Given the description of an element on the screen output the (x, y) to click on. 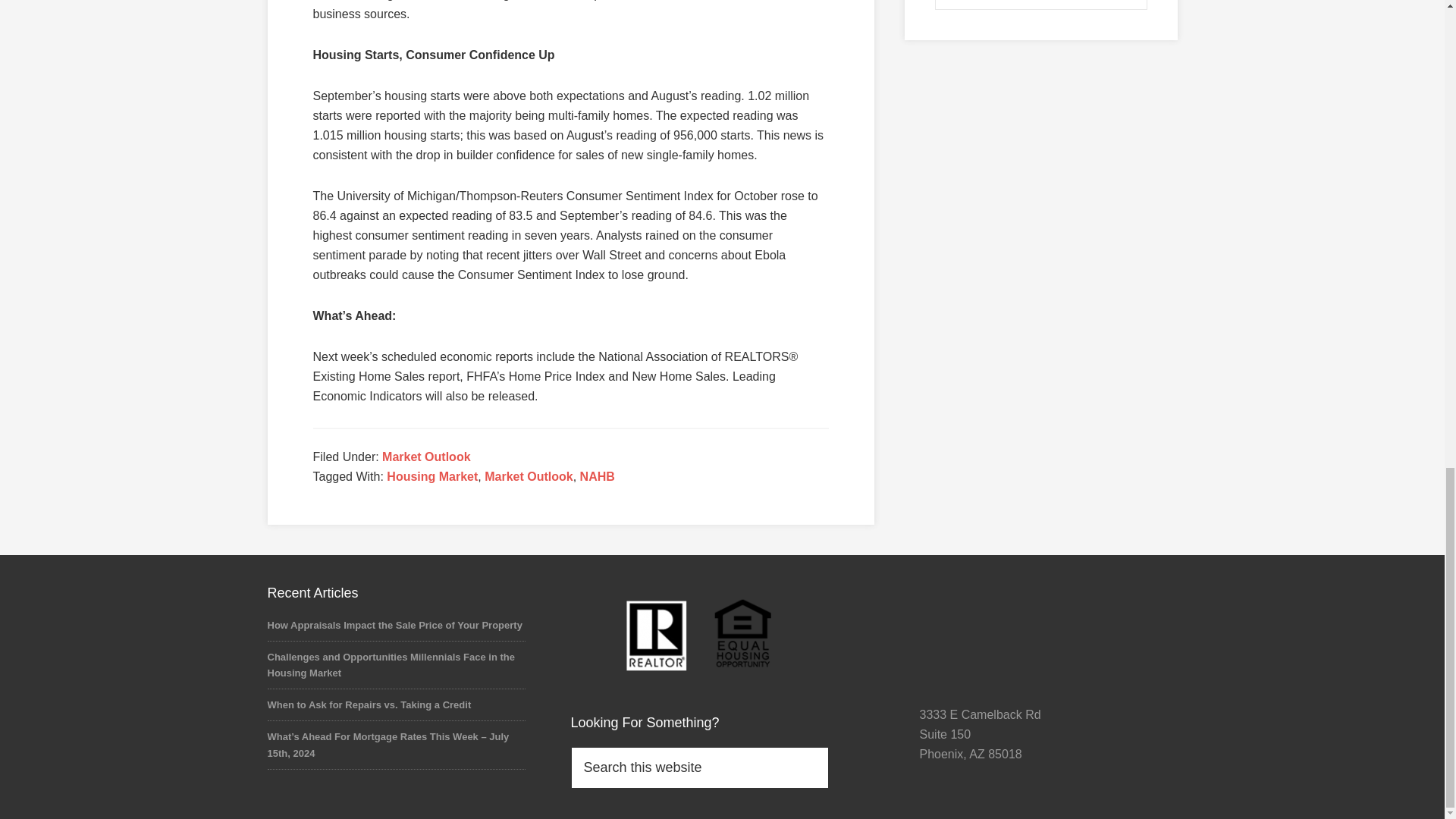
Market Outlook (425, 456)
When to Ask for Repairs vs. Taking a Credit (368, 704)
Housing Market (432, 476)
Market Outlook (528, 476)
NAHB (596, 476)
How Appraisals Impact the Sale Price of Your Property (393, 624)
